Given the description of an element on the screen output the (x, y) to click on. 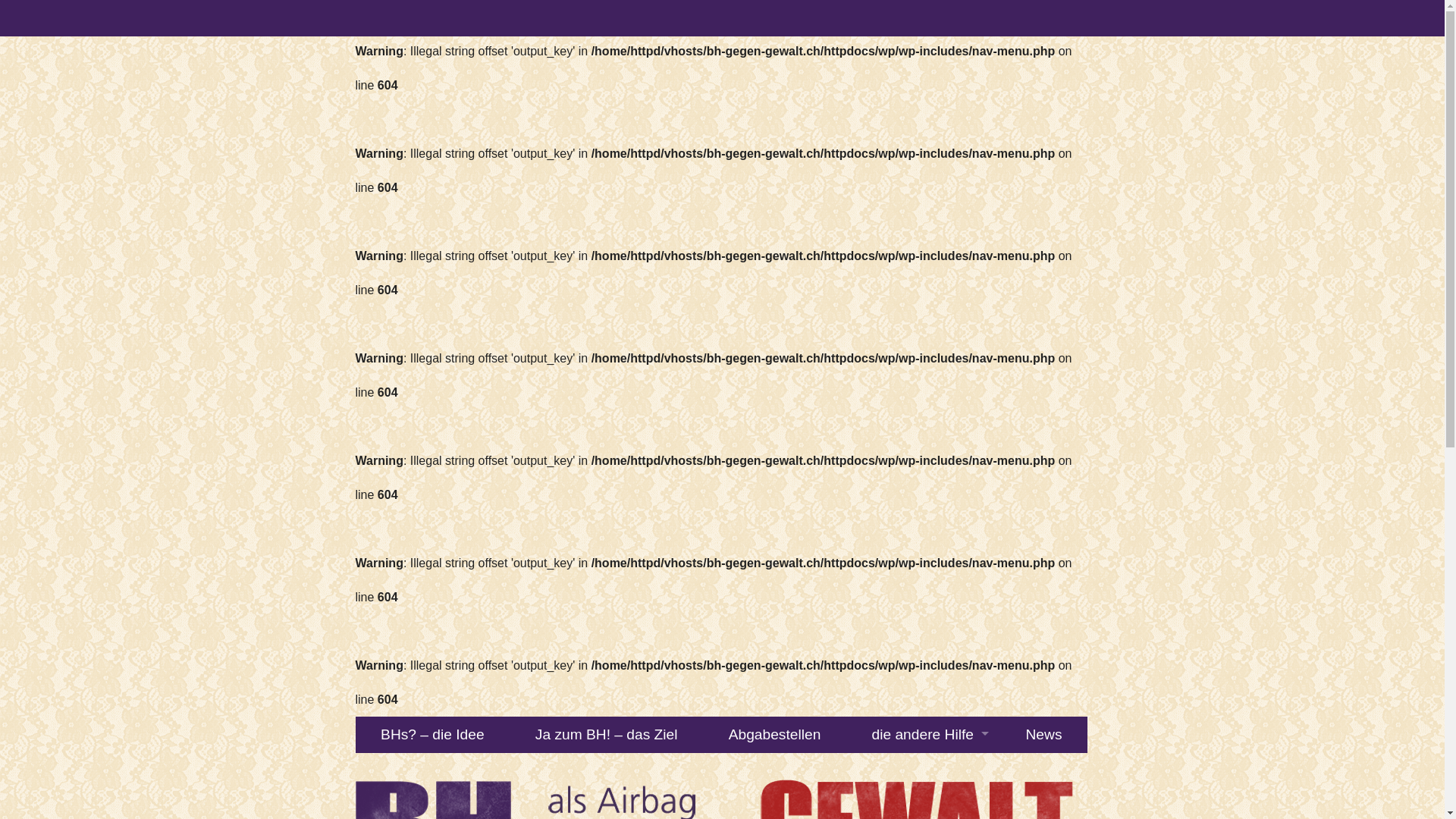
Sexy Little Bag Element type: text (923, 771)
News Element type: text (1043, 734)
die andere Hilfe Element type: text (923, 734)
Abgabestellen Element type: text (774, 734)
